Given the description of an element on the screen output the (x, y) to click on. 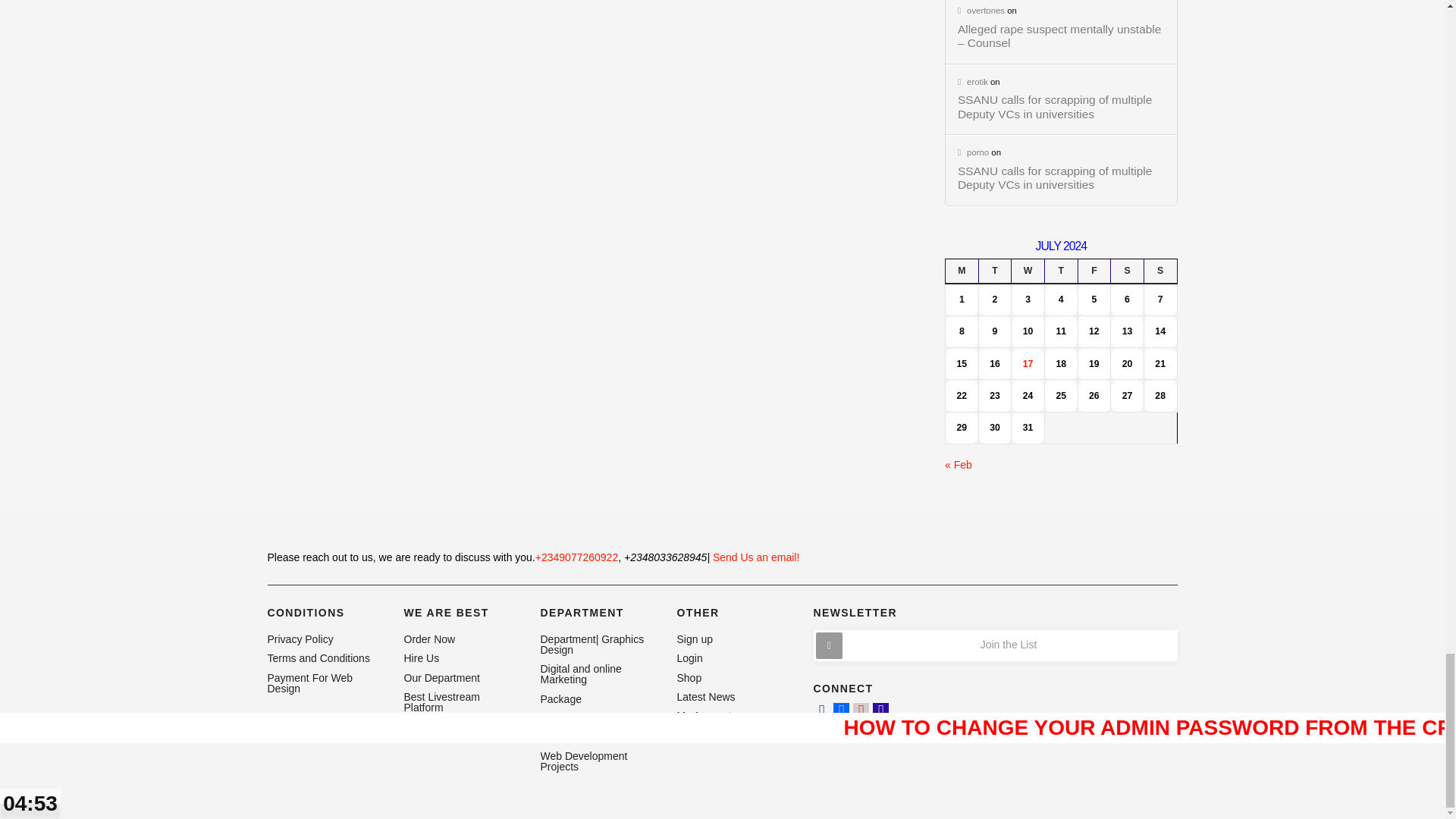
overtones (981, 10)
Thursday (1060, 271)
porno (973, 152)
Sunday (1159, 271)
17 (1028, 363)
Monday (961, 271)
Tuesday (994, 271)
Wednesday (1028, 271)
Saturday (1127, 271)
Friday (1093, 271)
erotik (973, 81)
